Given the description of an element on the screen output the (x, y) to click on. 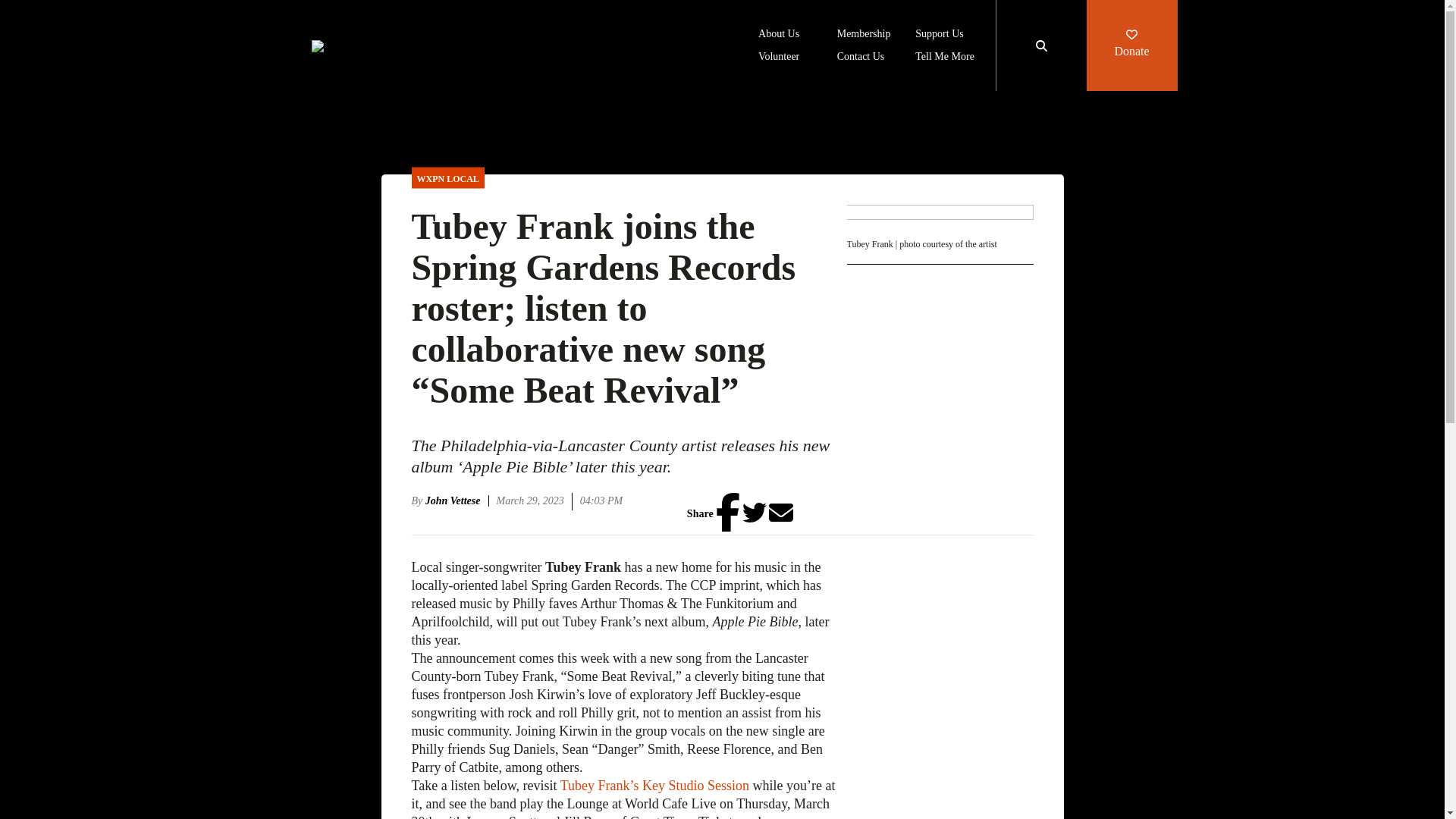
Volunteer (778, 57)
Support Us (938, 35)
About Us (778, 35)
Membership (864, 35)
John Vettese (457, 500)
Donate (1131, 45)
Contact Us (861, 57)
Tell Me More (944, 57)
